Given the description of an element on the screen output the (x, y) to click on. 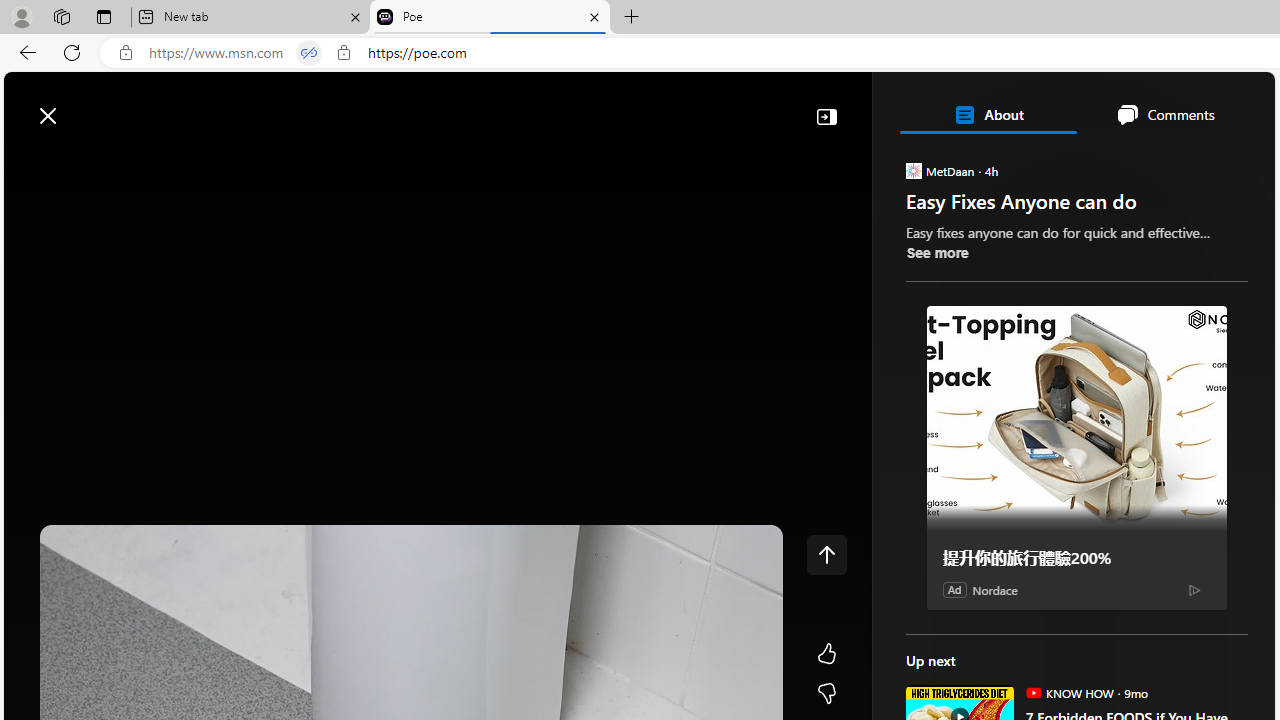
Poe (490, 17)
MetDaan (912, 170)
Comments (1165, 114)
Like (826, 653)
